Given the description of an element on the screen output the (x, y) to click on. 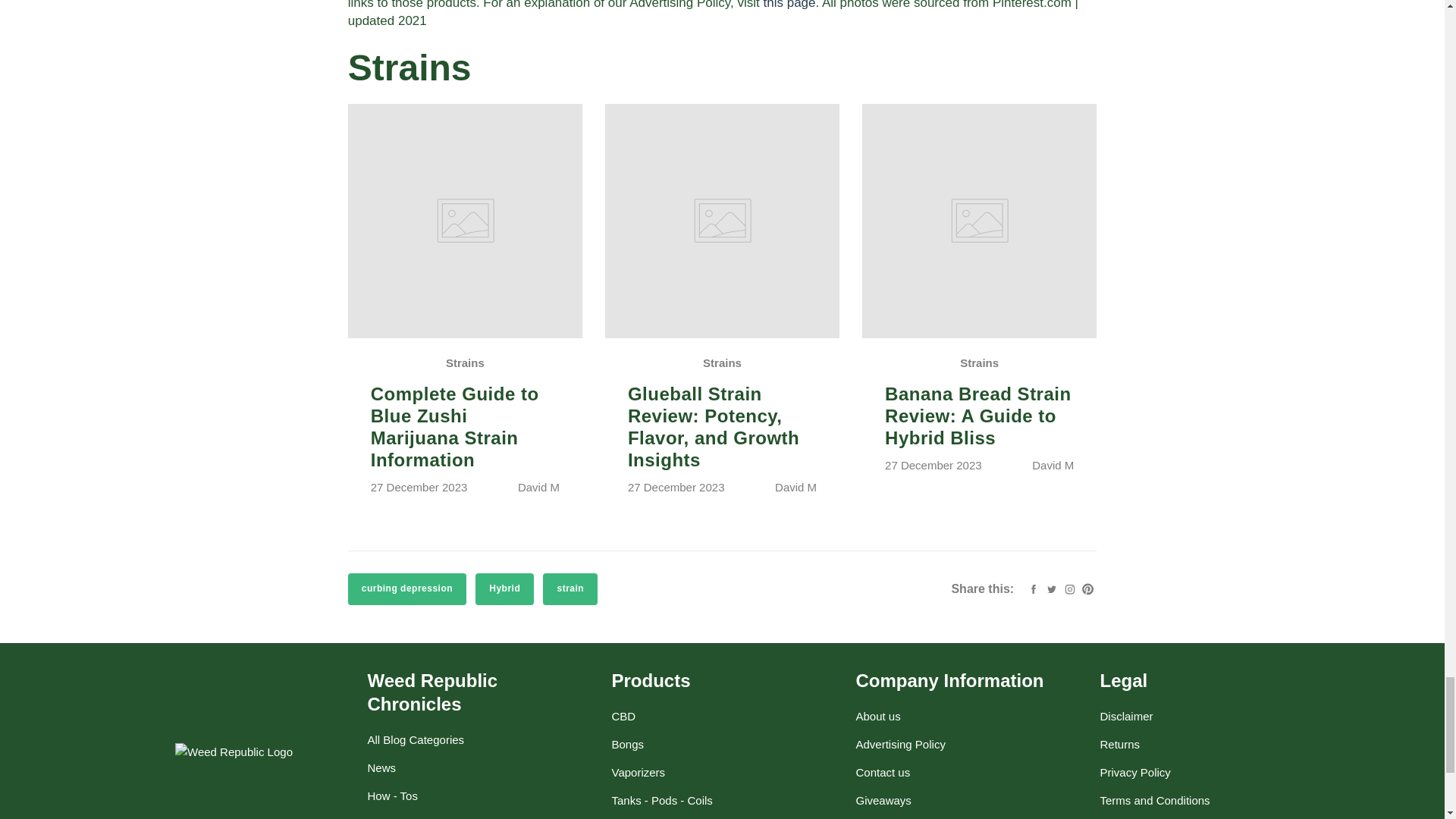
Narrow search to articles also having tag strain (569, 589)
Narrow search to articles also having tag Hybrid (505, 589)
Narrow search to articles also having tag curbing depression (406, 589)
